Given the description of an element on the screen output the (x, y) to click on. 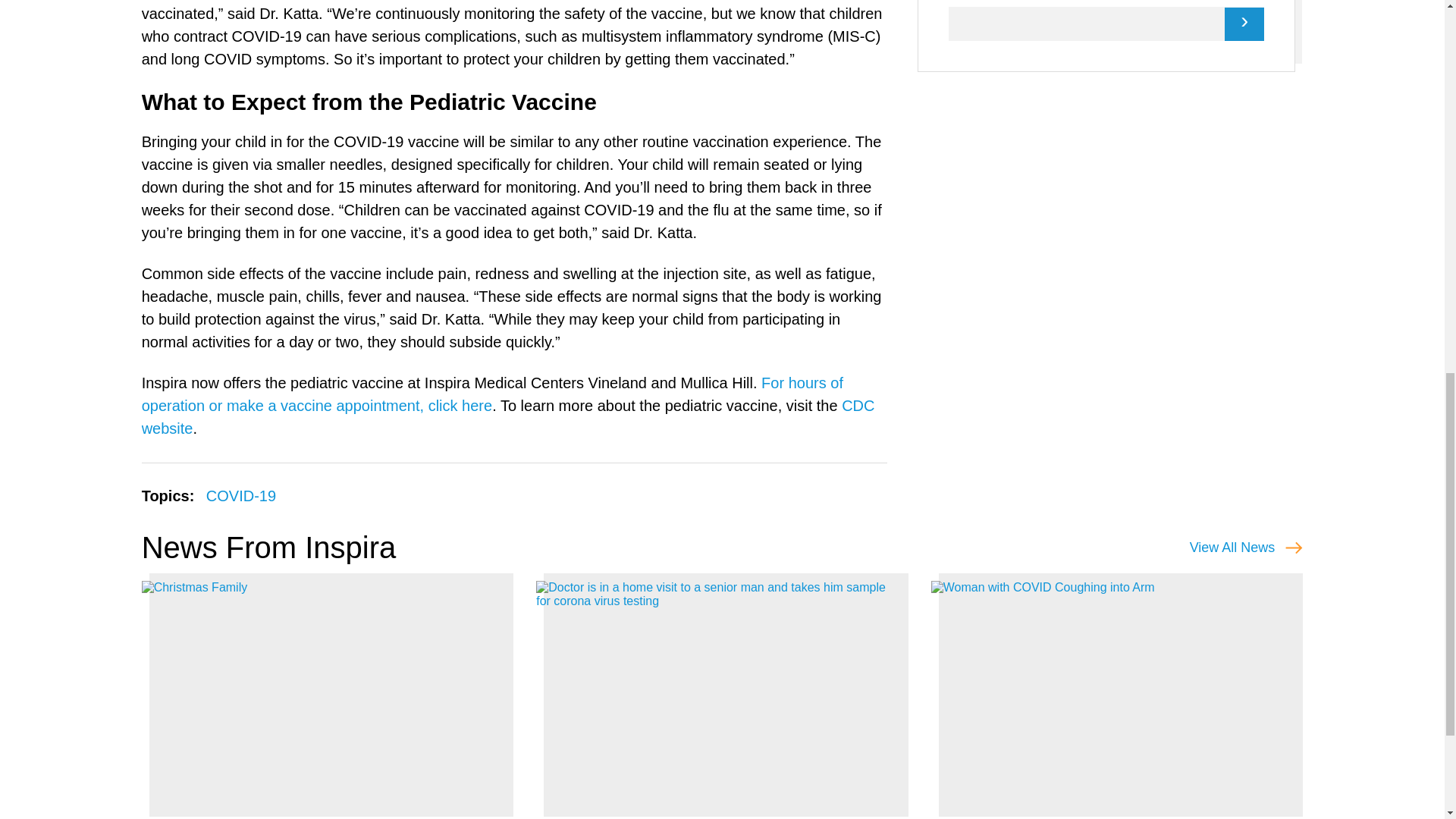
CDC website (508, 416)
COVID-19 (241, 495)
